Given the description of an element on the screen output the (x, y) to click on. 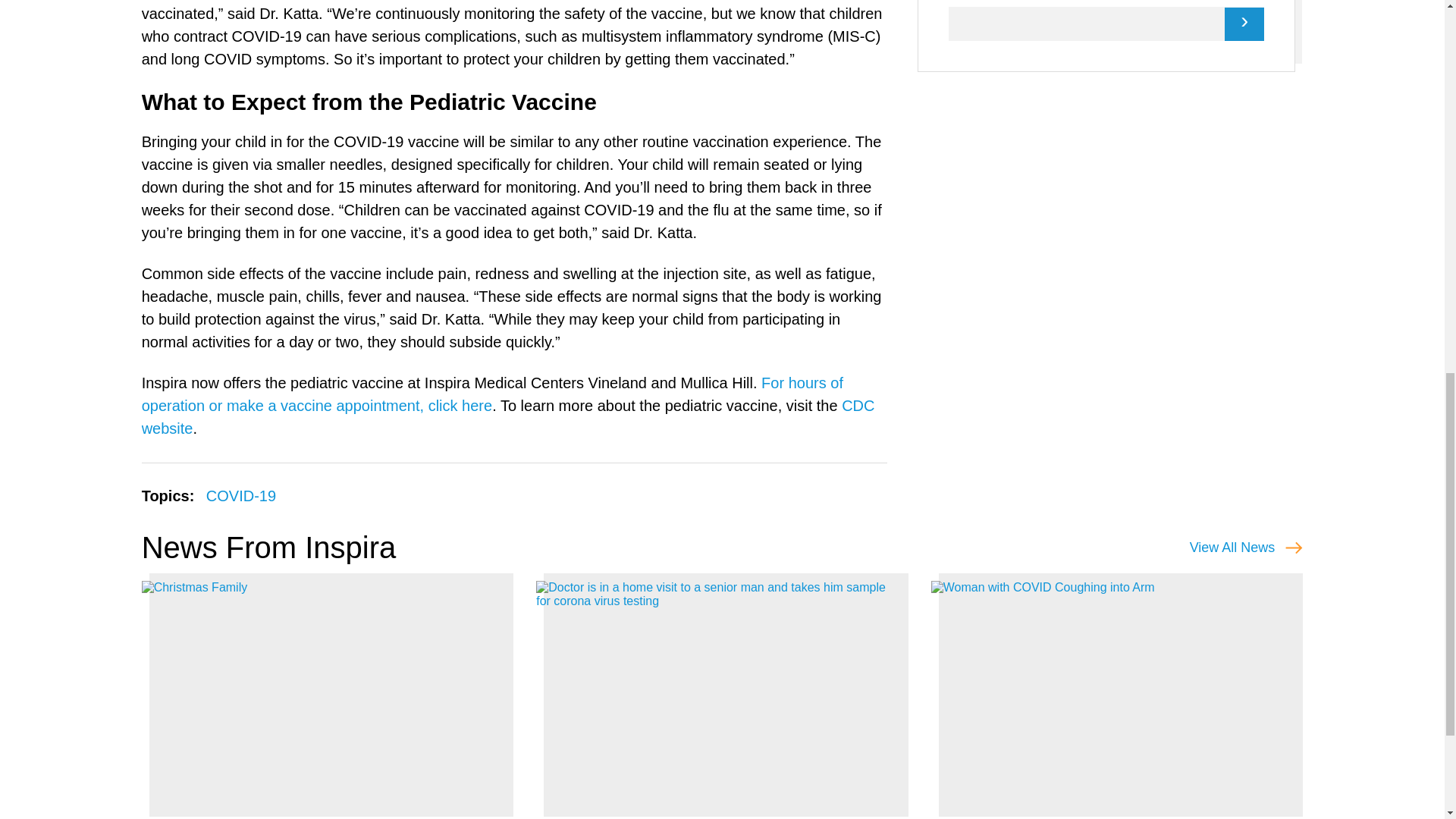
CDC website (508, 416)
COVID-19 (241, 495)
